Given the description of an element on the screen output the (x, y) to click on. 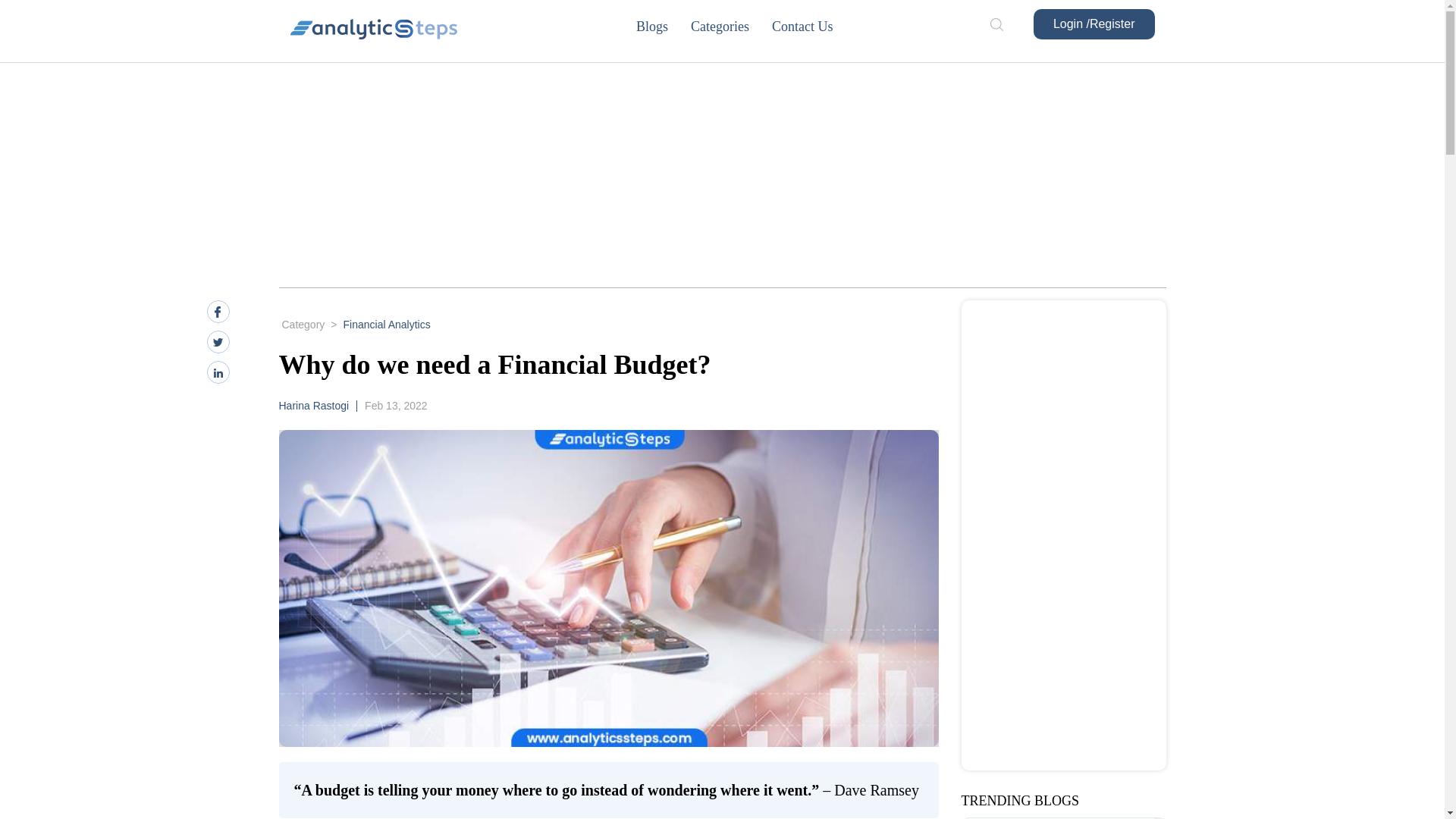
Contact Us (813, 26)
Categories (730, 26)
Blogs (663, 26)
